Given the description of an element on the screen output the (x, y) to click on. 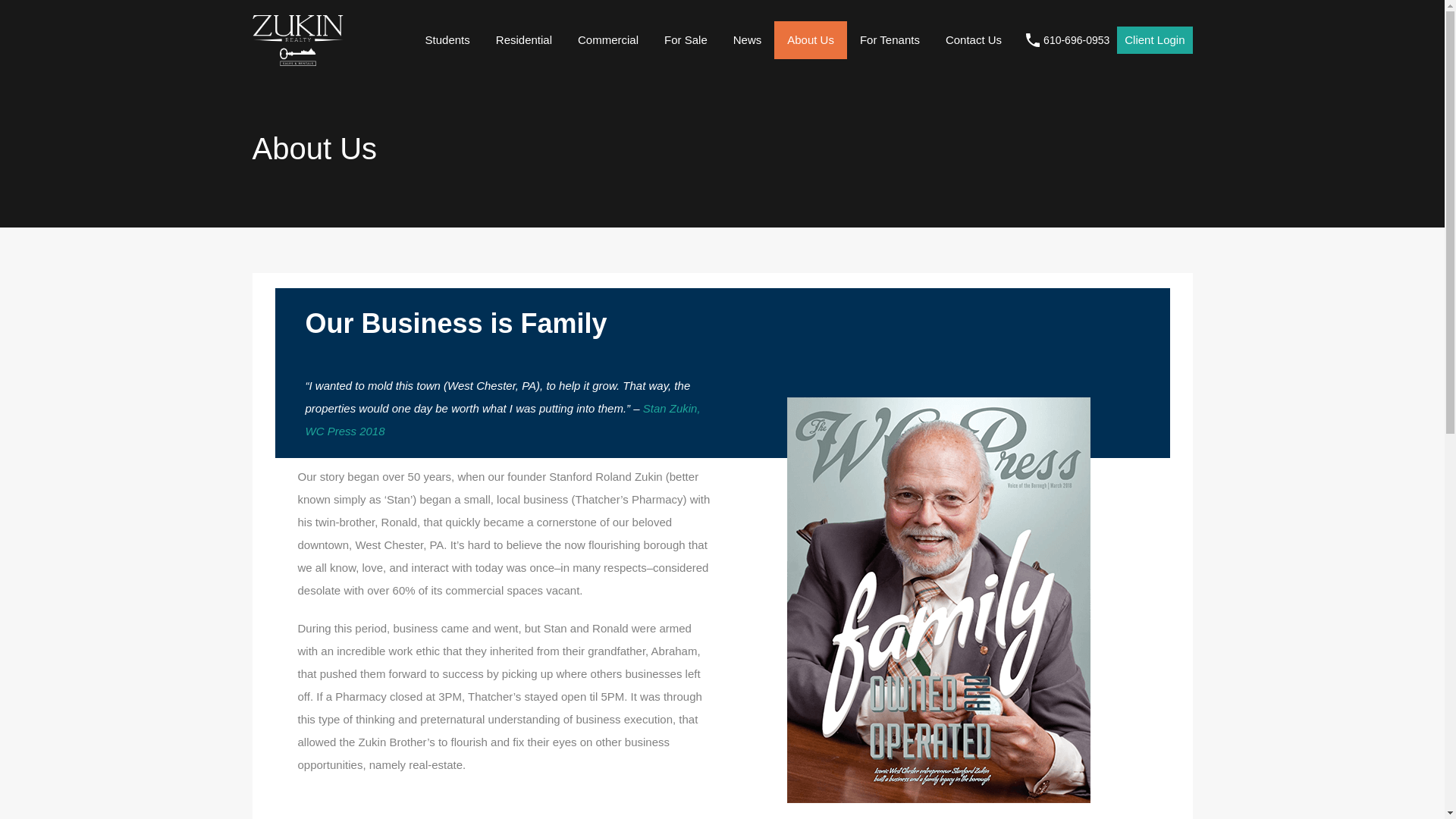
Zukin Realty (296, 58)
About Us (810, 39)
Residential (523, 39)
Students (447, 39)
News (747, 39)
For Sale (685, 39)
Commercial (607, 39)
